Given the description of an element on the screen output the (x, y) to click on. 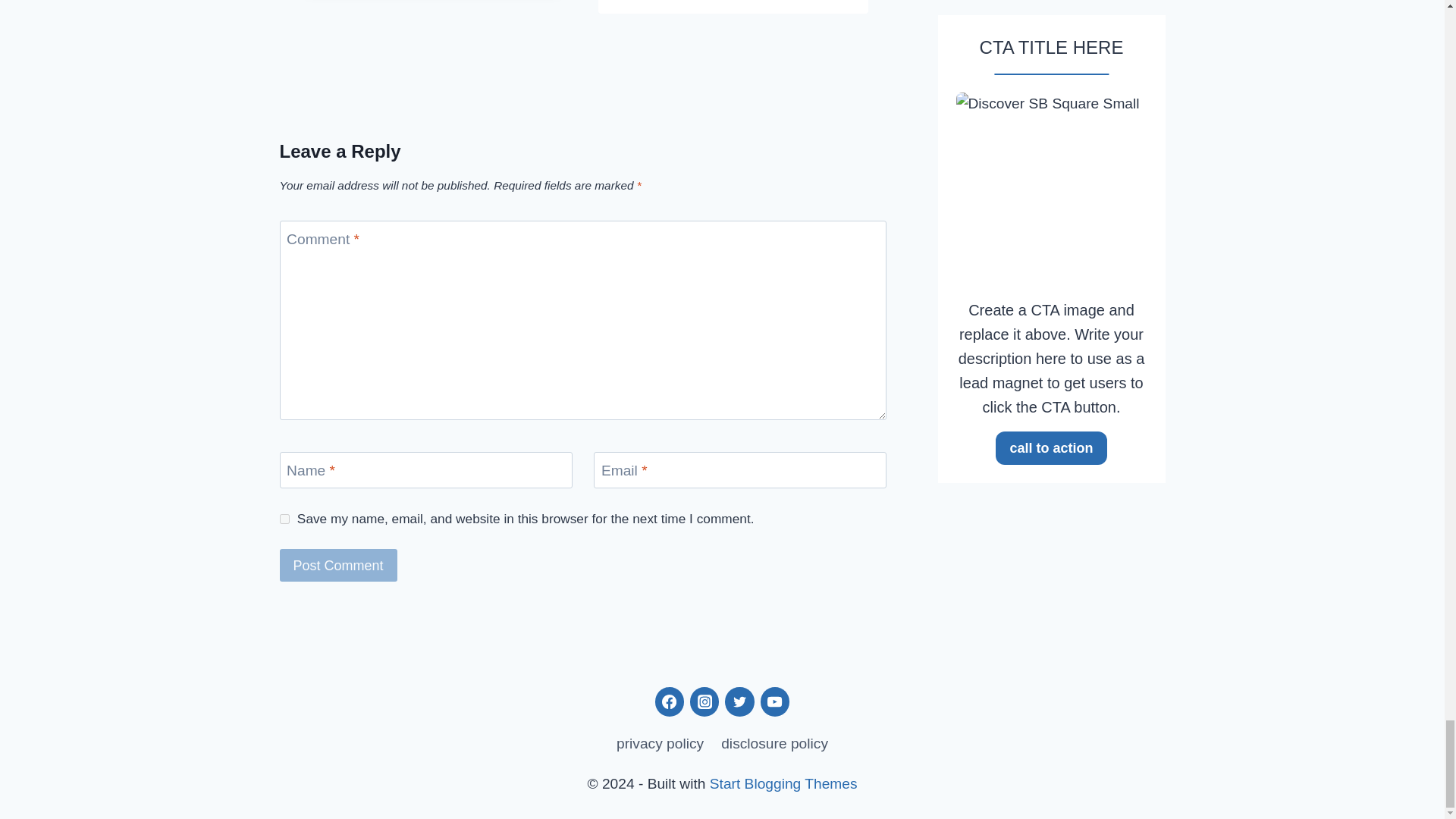
Post Comment (337, 564)
privacy policy (659, 744)
disclosure policy (775, 744)
Start Blogging Themes (783, 783)
Post Comment (337, 564)
yes (283, 519)
